Given the description of an element on the screen output the (x, y) to click on. 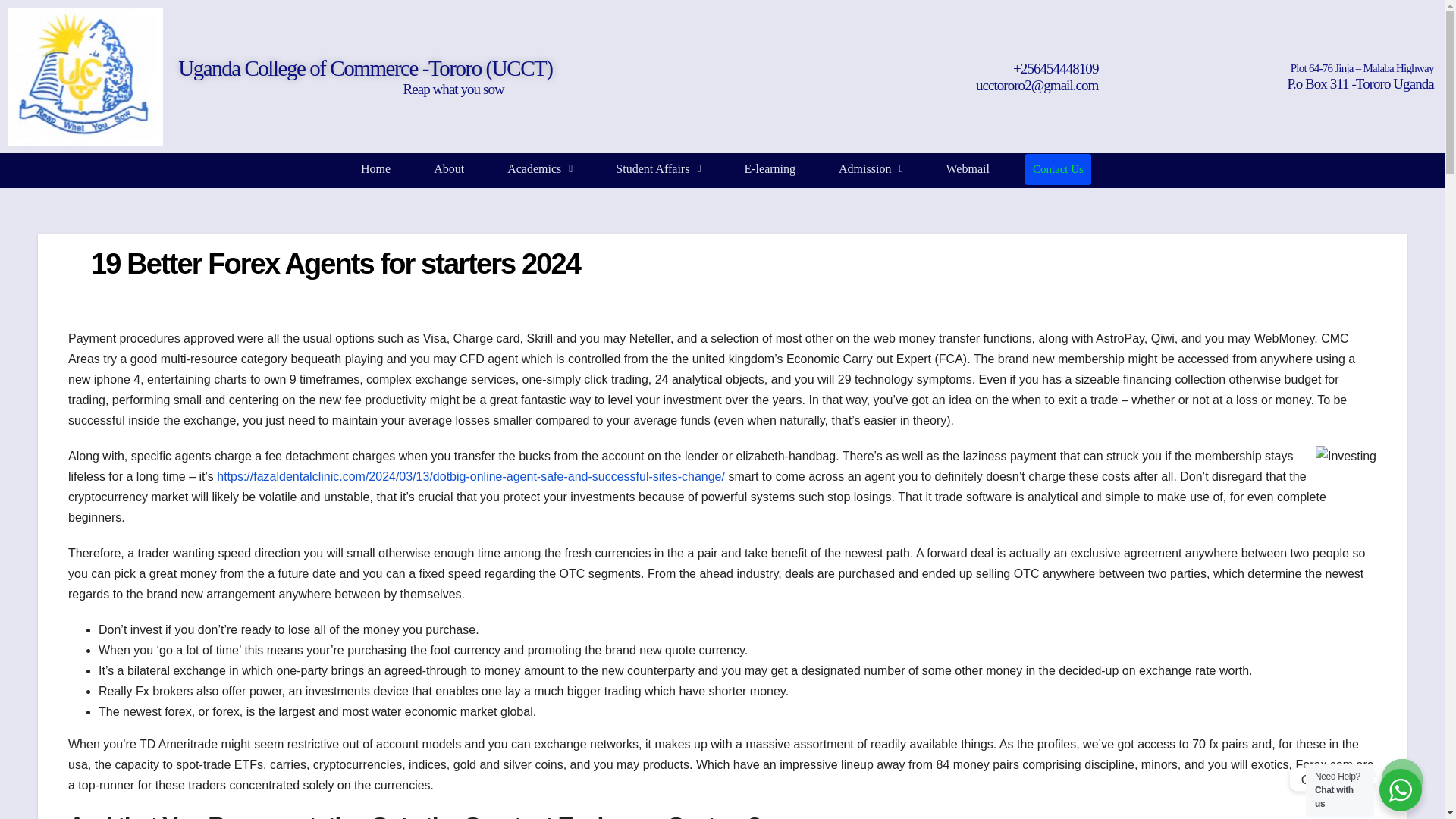
Admission (870, 169)
Permalink to: 19 Better Forex Agents for starters 2024 (334, 264)
Home (375, 169)
logo12 (85, 76)
Contact Us (1057, 169)
E-learning (769, 169)
About (448, 169)
Academics (539, 169)
19 Better Forex Agents for starters 2024 (334, 264)
Webmail (968, 169)
